Given the description of an element on the screen output the (x, y) to click on. 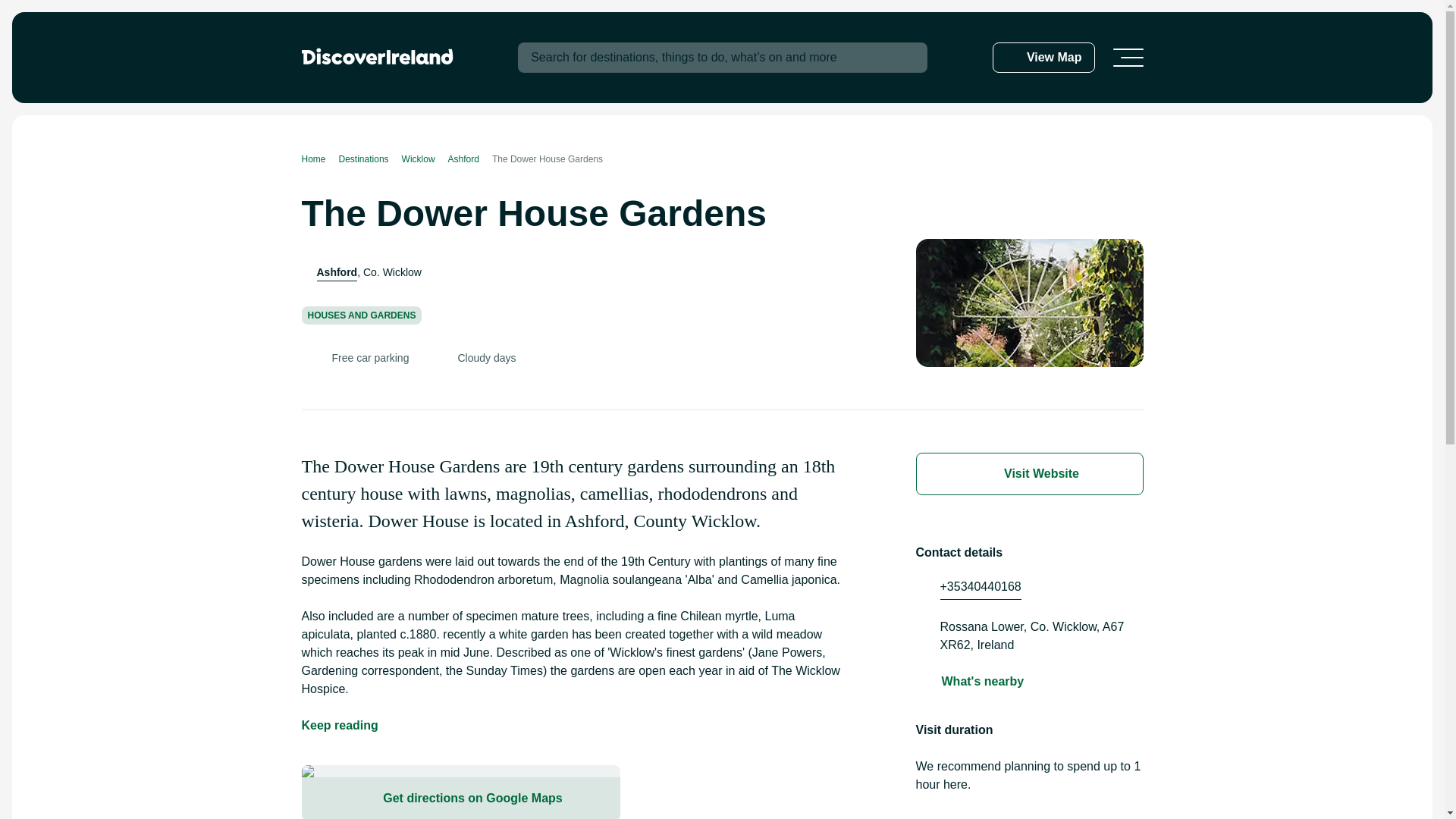
Search (902, 57)
Click to go back to the homepage (376, 55)
View Map (1043, 57)
